Given the description of an element on the screen output the (x, y) to click on. 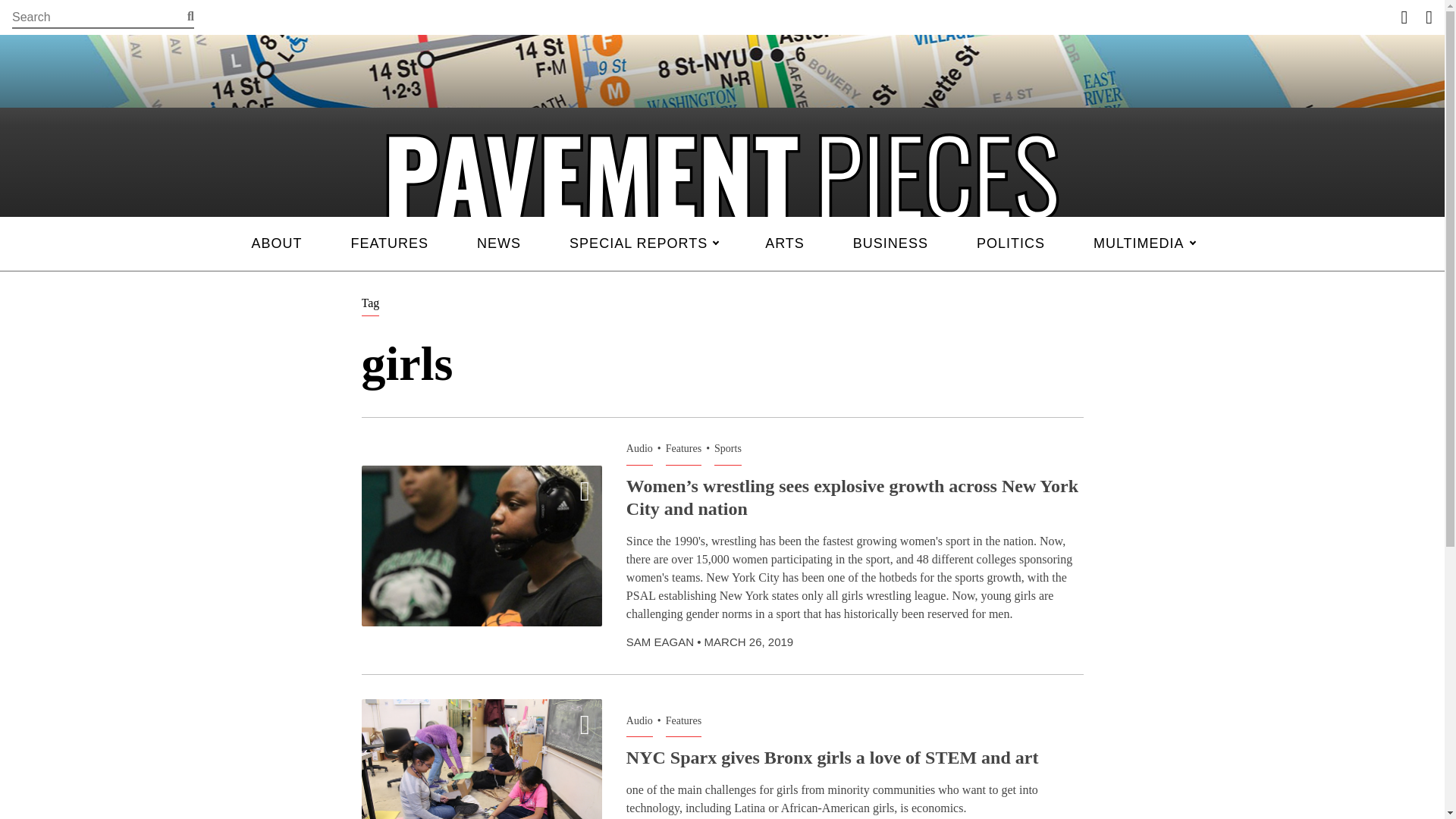
FEATURES (389, 244)
ARTS (784, 244)
MULTIMEDIA (1143, 244)
ABOUT (276, 244)
BUSINESS (890, 244)
SPECIAL REPORTS (643, 244)
NEWS (498, 244)
POLITICS (1010, 244)
PAVEMENT (721, 176)
